Given the description of an element on the screen output the (x, y) to click on. 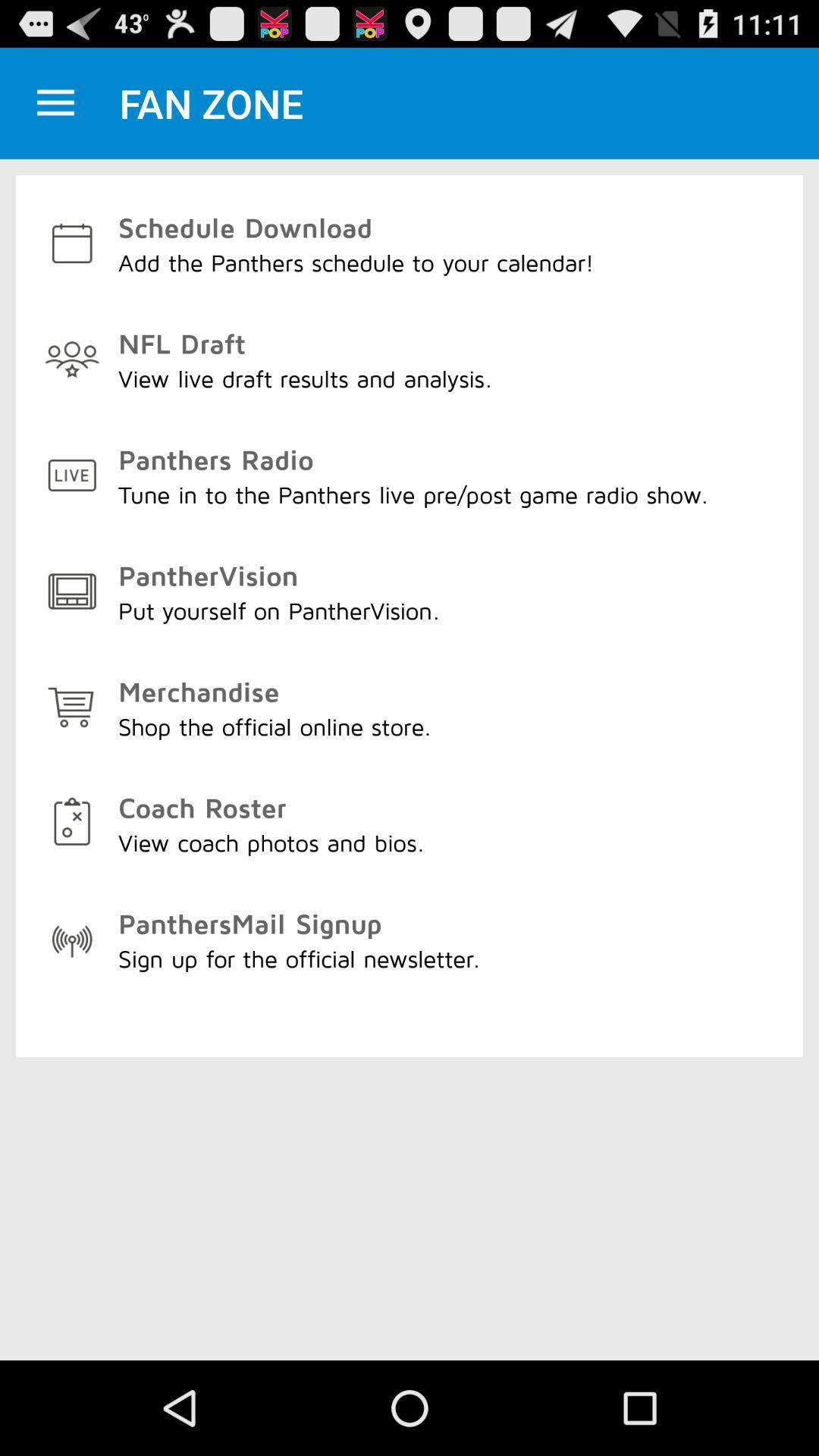
open the icon above the schedule download (55, 103)
